Given the description of an element on the screen output the (x, y) to click on. 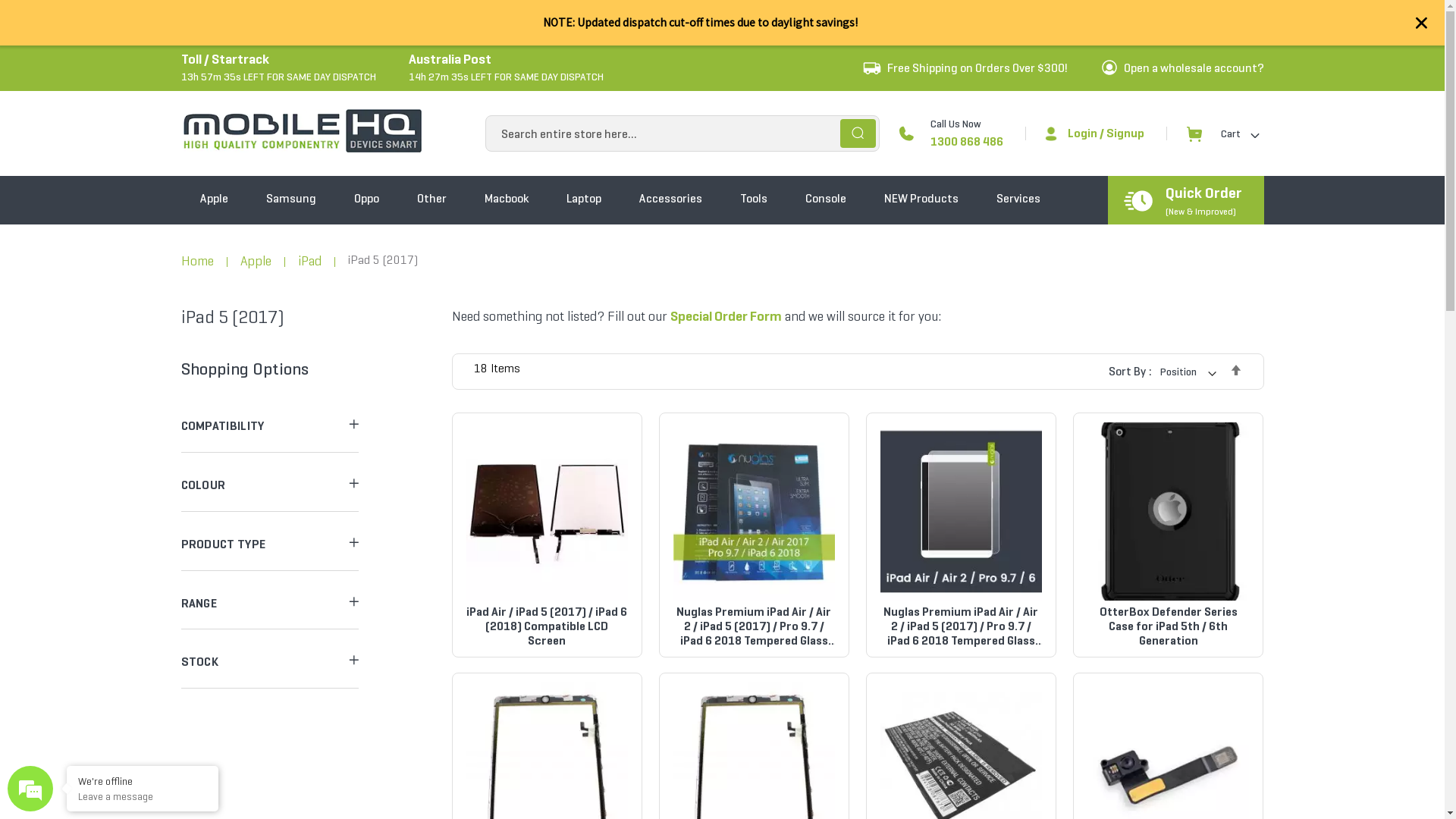
1300 868 486 Element type: text (966, 95)
Samsung Element type: text (291, 153)
Laptop Element type: text (583, 153)
Special Order Form Element type: text (725, 315)
Cart Element type: text (1223, 87)
Apple Element type: text (254, 260)
Signup Element type: text (1125, 86)
iPad Element type: text (308, 260)
Set Descending Direction Element type: text (1236, 369)
Accessories Element type: text (670, 153)
MobileHQ Element type: hover (302, 133)
Open a wholesale account? Element type: text (1193, 22)
Macbook Element type: text (506, 153)
Home Element type: text (196, 260)
Search Element type: text (857, 87)
Tools Element type: text (752, 153)
Console Element type: text (824, 153)
Apple Element type: text (213, 153)
Oppo Element type: text (366, 153)
Login Element type: text (1085, 86)
OtterBox Defender Series Case for iPad 5th / 6th Generation Element type: text (1168, 625)
Services Element type: text (1017, 153)
Other Element type: text (430, 153)
Quick Order
(New & Improved) Element type: text (1202, 155)
NEW Products Element type: text (920, 153)
